Given the description of an element on the screen output the (x, y) to click on. 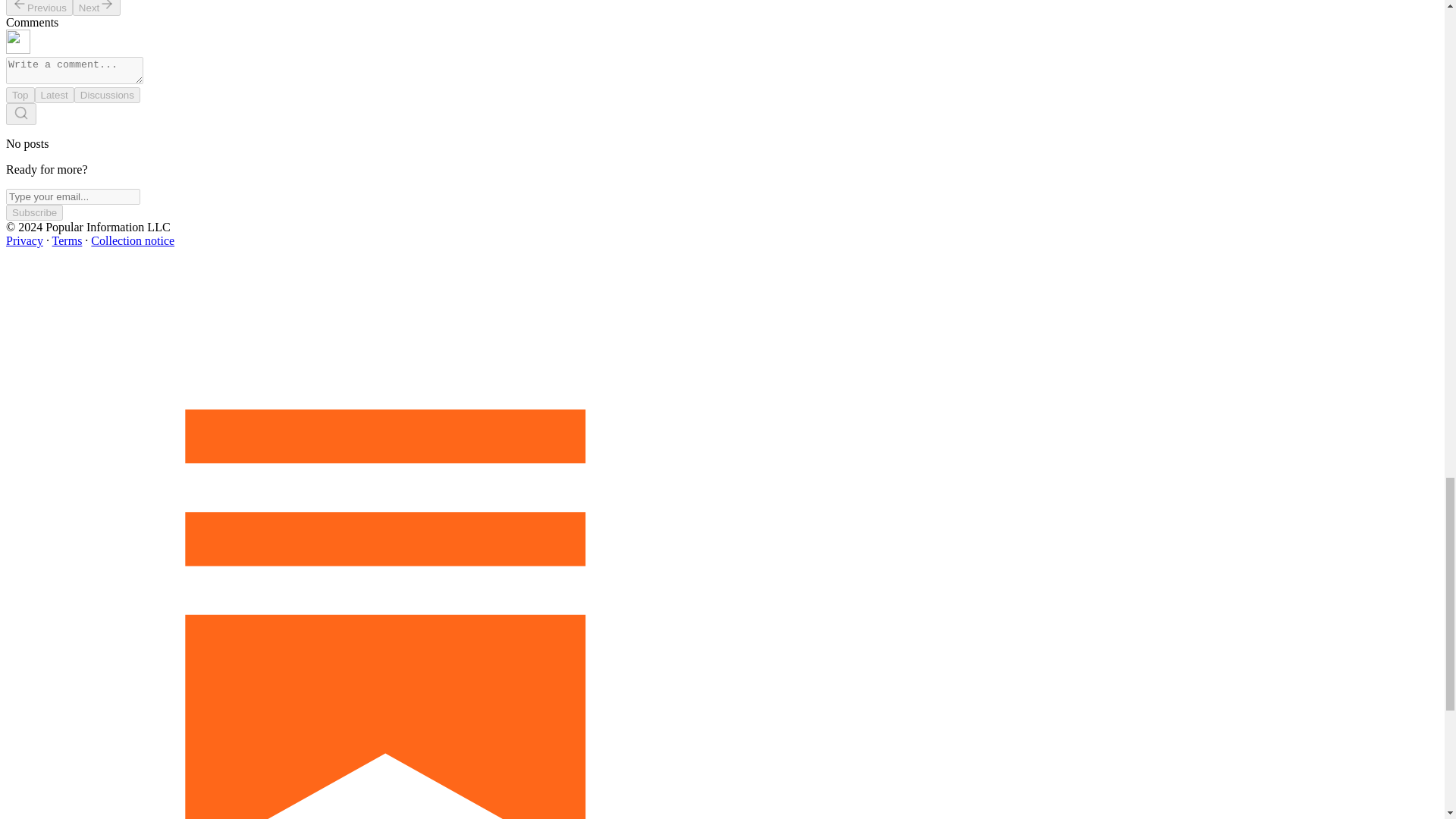
Previous (38, 7)
